Given the description of an element on the screen output the (x, y) to click on. 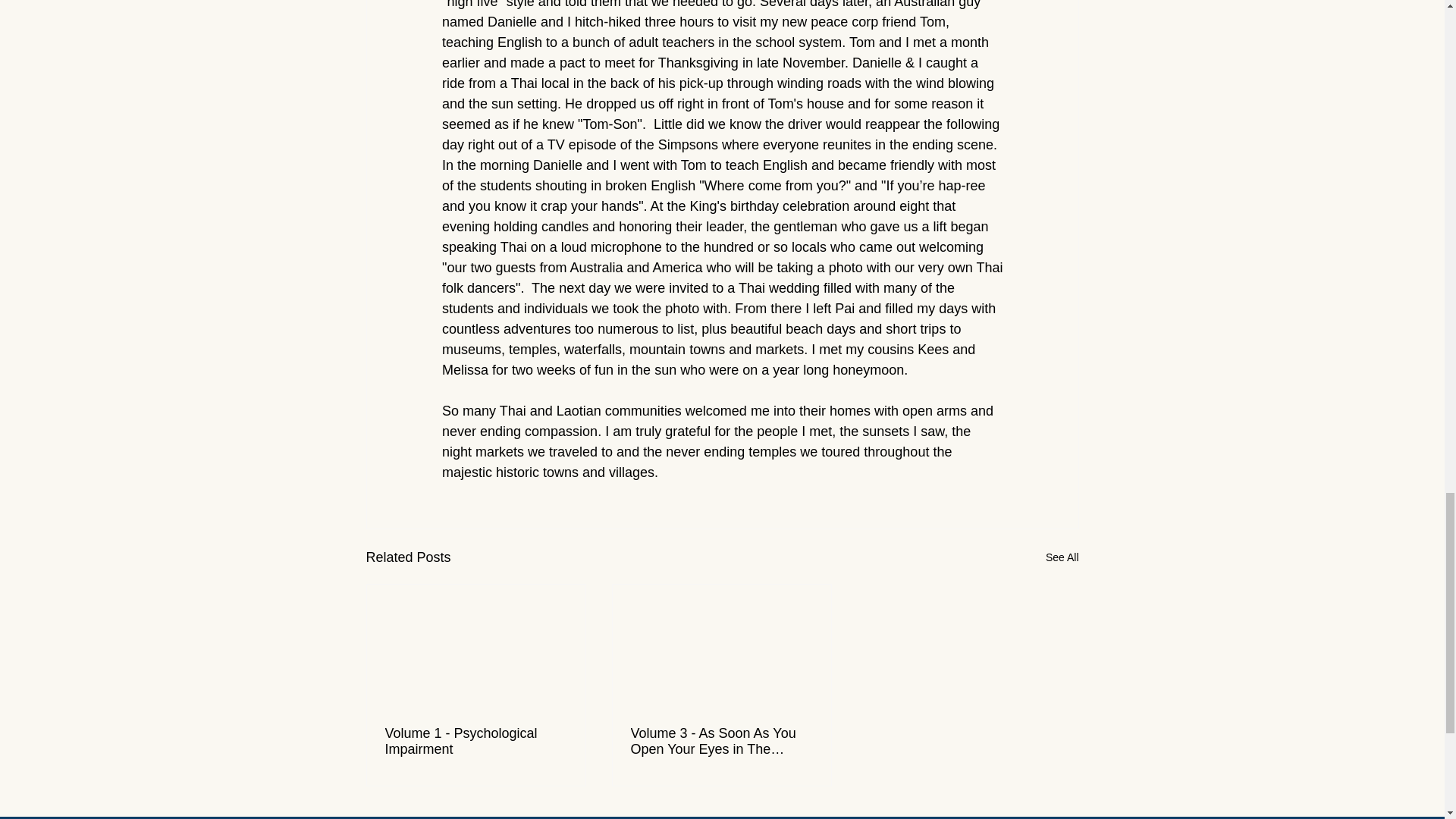
Volume 1 - Psychological Impairment (476, 741)
See All (1061, 557)
Volume 3 - As Soon As You Open Your Eyes in The Morning (721, 741)
